Given the description of an element on the screen output the (x, y) to click on. 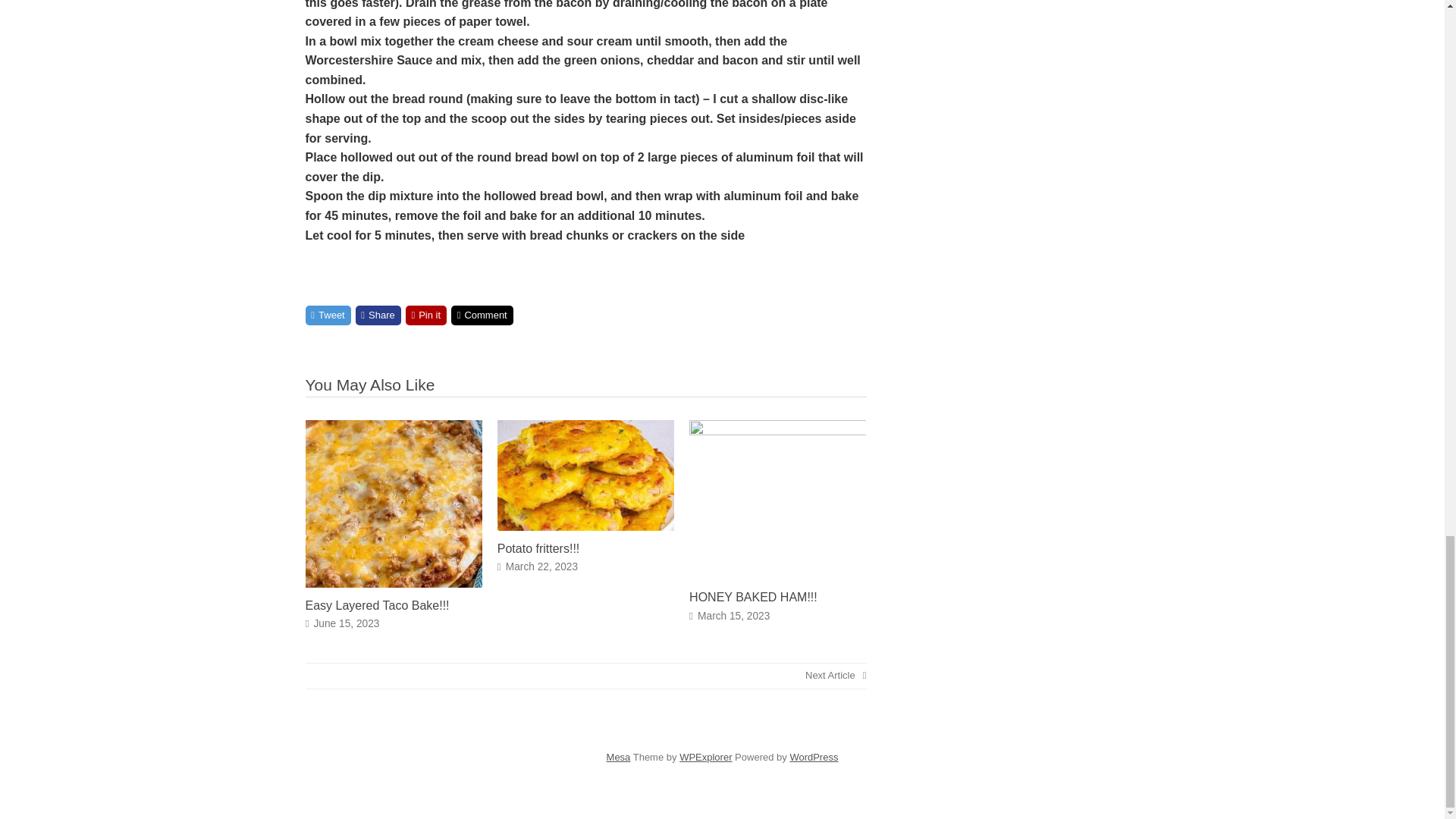
Share on Pinterest (426, 315)
Share (378, 315)
Mesa (618, 756)
Potato fritters!!! (538, 548)
Comment (482, 315)
Easy Layered Taco Bake!!! (392, 583)
Share on Facebook (378, 315)
Easy Layered Taco Bake!!! (376, 604)
WordPress (813, 756)
Share on Twitter (327, 315)
